Given the description of an element on the screen output the (x, y) to click on. 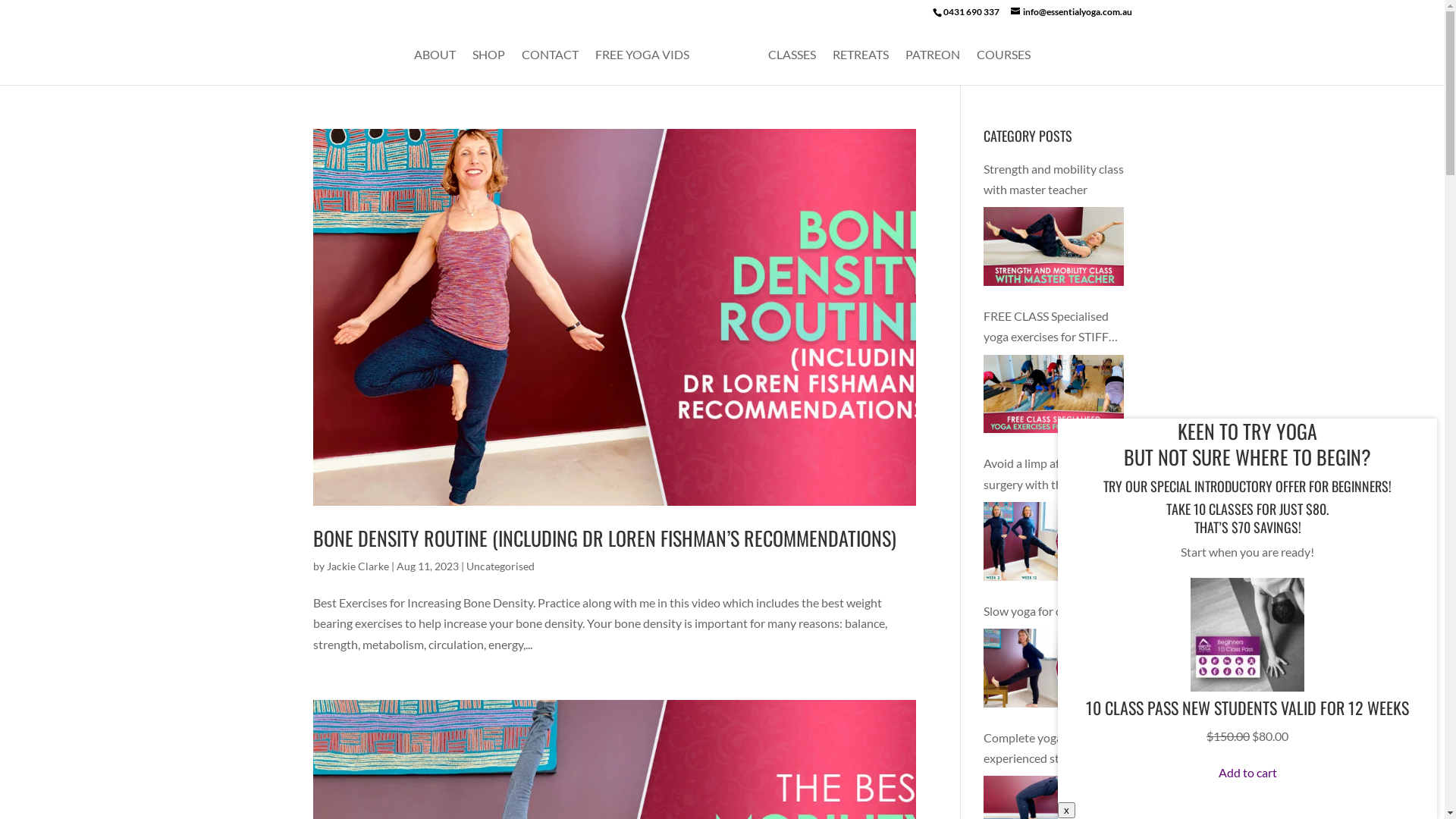
PATREON Element type: text (932, 66)
FREE YOGA VIDS Element type: text (642, 66)
Pass Mockups-02-02-02 Element type: hover (1247, 634)
COURSES Element type: text (1003, 66)
info@essentialyoga.com.au Element type: text (1070, 11)
RETREATS Element type: text (860, 66)
Complete yoga practice for experienced students Element type: text (1057, 747)
CLASSES Element type: text (791, 66)
SHOP Element type: text (488, 66)
Uncategorised Element type: text (499, 565)
FREE CLASS Specialised yoga exercises for STIFF over 40s Element type: text (1057, 325)
Add to cart Element type: text (1246, 772)
Jackie Clarke Element type: text (357, 565)
Slow yoga for over 50s Element type: text (1057, 610)
FREE CLASS Specialised yoga exercises for STIFF over 40s Element type: hover (1053, 393)
Strength and mobility class with master teacher Element type: hover (1053, 246)
10 CLASS PASS NEW STUDENTS VALID FOR 12 WEEKS Element type: text (1246, 707)
Slow yoga for over 50s Element type: hover (1053, 667)
CONTACT Element type: text (549, 66)
ABOUT Element type: text (434, 66)
x Element type: text (1066, 810)
Strength and mobility class with master teacher Element type: text (1057, 178)
10 Class Pass New Students Valid for 12 weeks Element type: hover (1247, 686)
